Given the description of an element on the screen output the (x, y) to click on. 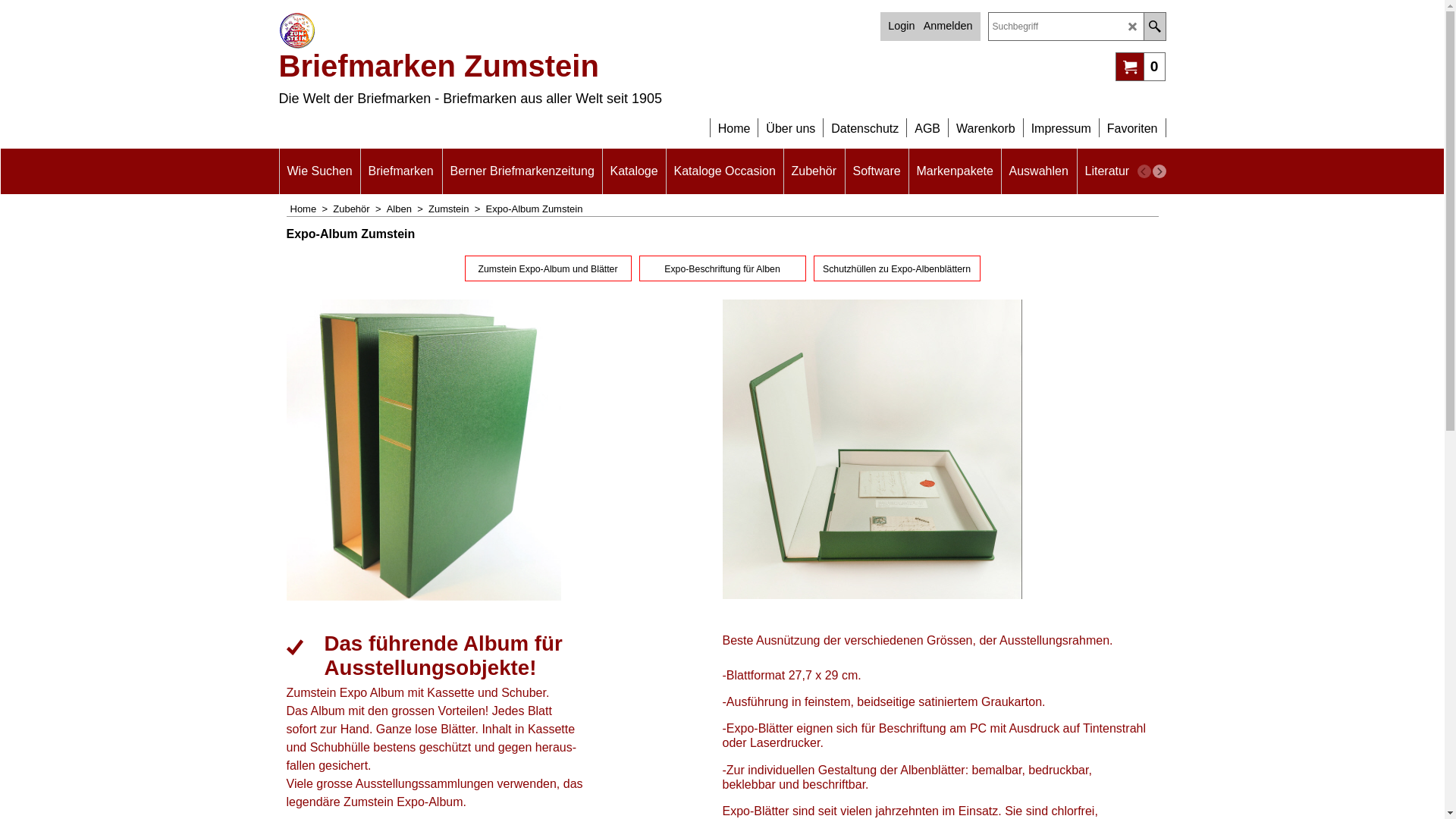
Alben  >  Element type: text (407, 208)
Kataloge Occasion Element type: text (723, 171)
Favoriten Element type: text (1132, 121)
0 Element type: text (1140, 65)
Markenpakete Element type: text (954, 171)
Login Element type: text (901, 25)
Anmelden Element type: text (947, 25)
Expo Album Element type: hover (871, 449)
AGB Element type: text (926, 121)
Wie Suchen Element type: text (319, 171)
Software Element type: text (875, 171)
Briefmarken Element type: text (400, 171)
Home Element type: text (734, 121)
Berner Briefmarkenzeitung Element type: text (522, 171)
LD_CANCEL Element type: hover (1132, 26)
Suche Element type: hover (1154, 26)
Datenschutz Element type: text (864, 121)
Impressum Element type: text (1060, 121)
Home  >  Element type: text (310, 208)
Kataloge Element type: text (633, 171)
Literatur Element type: text (1106, 171)
Zumstein  >  Element type: text (457, 208)
Warenkorb Element type: text (985, 121)
Auswahlen Element type: text (1038, 171)
